Given the description of an element on the screen output the (x, y) to click on. 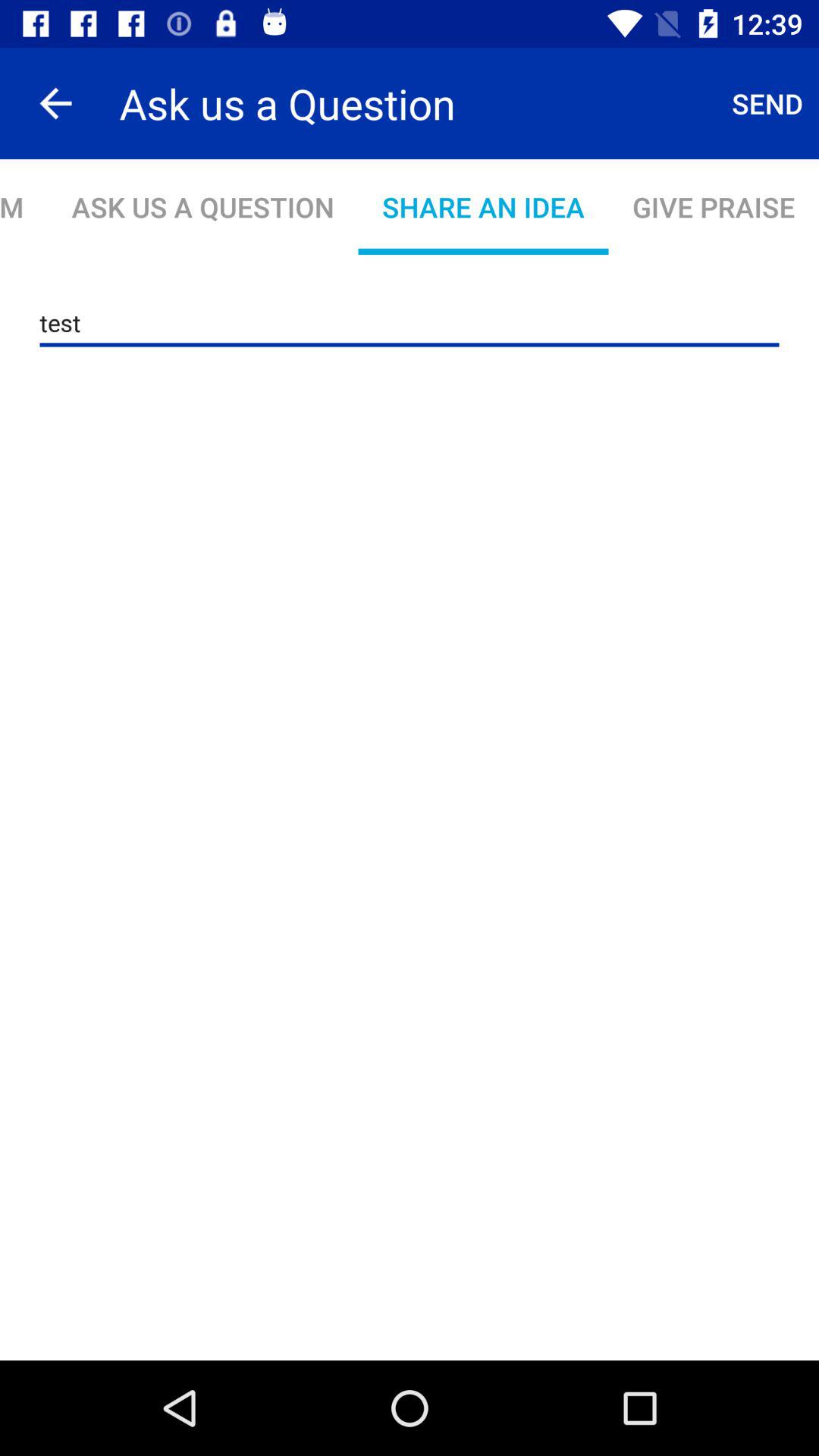
choose the item to the right of ask us a icon (767, 103)
